Given the description of an element on the screen output the (x, y) to click on. 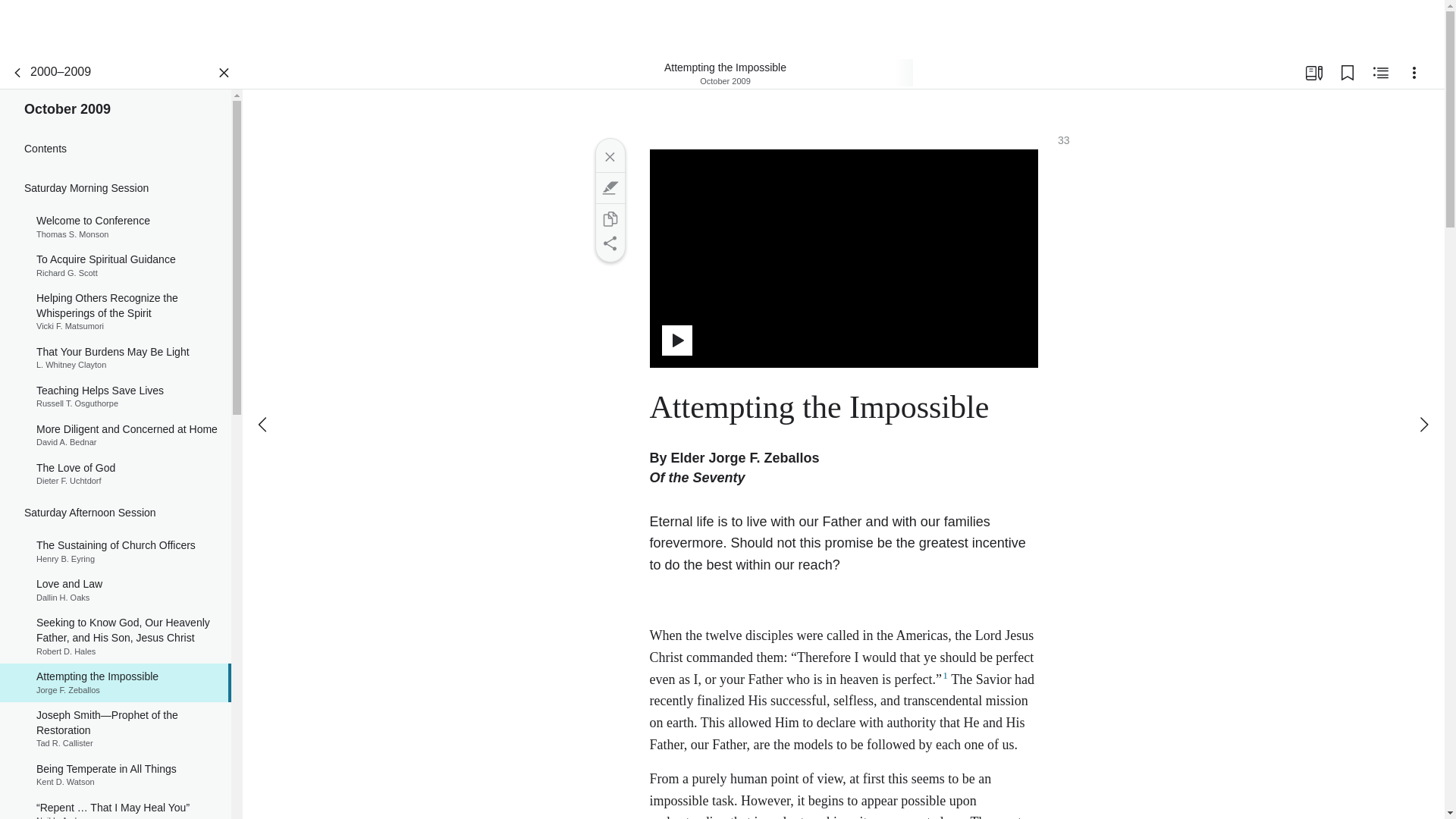
Copy (608, 218)
Bookmarks (1347, 72)
Study Sets (1313, 72)
Related Content (115, 265)
Options (1380, 72)
Mark (115, 551)
